Given the description of an element on the screen output the (x, y) to click on. 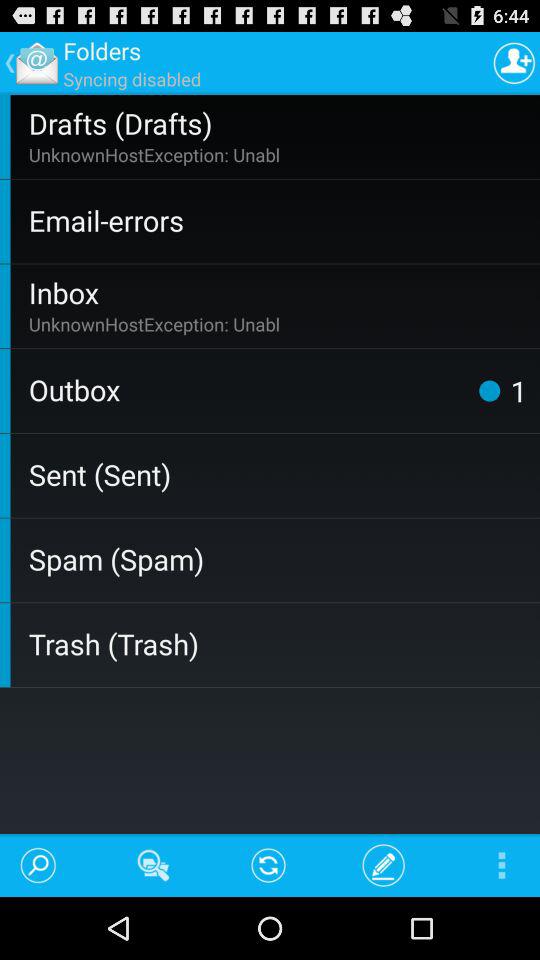
click item below the email-errors icon (280, 292)
